Given the description of an element on the screen output the (x, y) to click on. 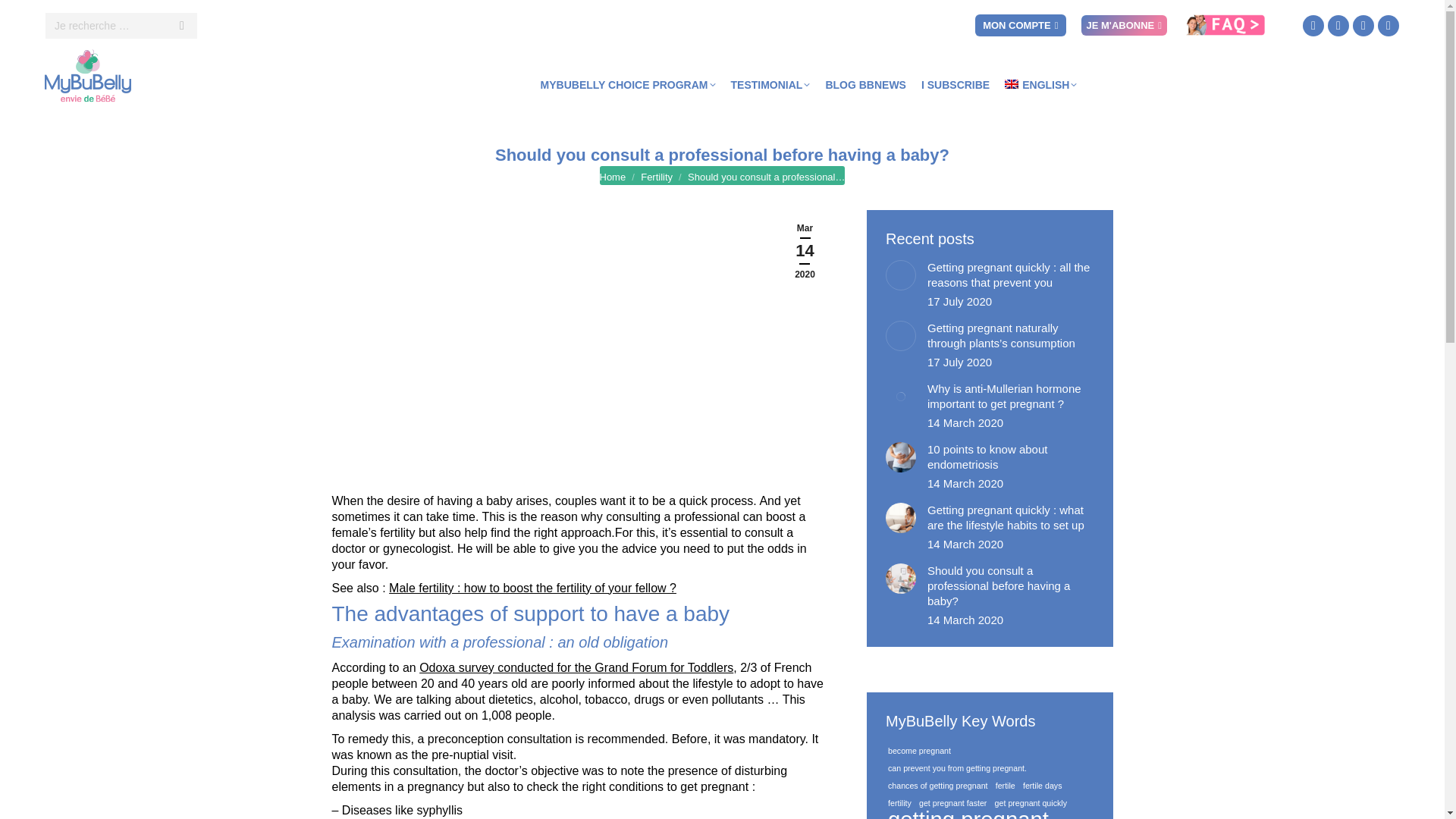
Search form (120, 25)
Facebook page opens in new window (1313, 25)
JE M'ABONNE (1124, 25)
X page opens in new window (1338, 25)
Instagram page opens in new window (1363, 25)
MYBUBELLY CHOICE PROGRAM (627, 84)
YouTube page opens in new window (1388, 25)
X page opens in new window (1338, 25)
Fertility (656, 176)
Instagram page opens in new window (1363, 25)
